Given the description of an element on the screen output the (x, y) to click on. 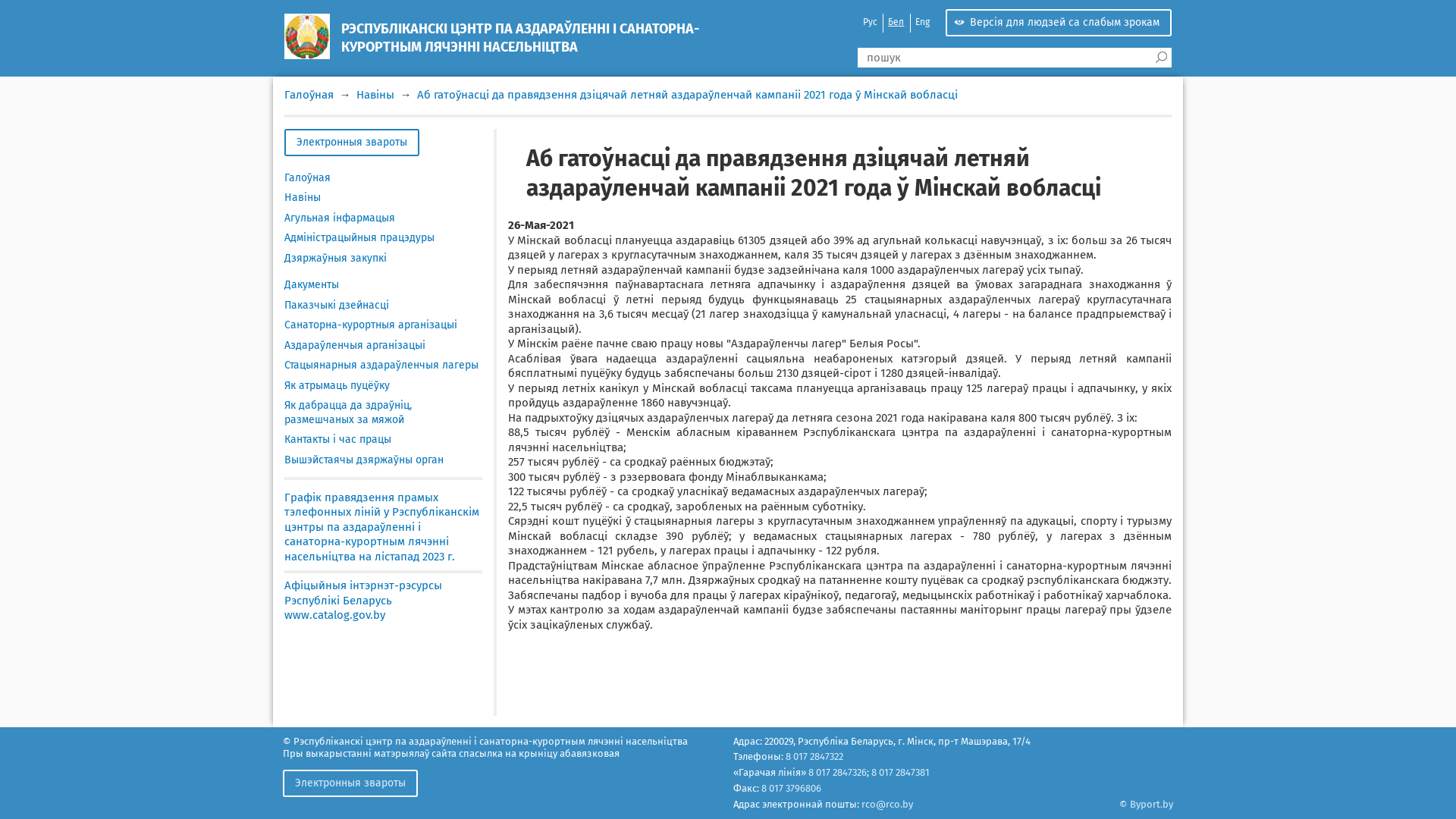
8 017 3796806 Element type: text (791, 787)
rco@rco.by Element type: text (887, 803)
8 017 2847322 Element type: text (814, 756)
8 017 2847326 Element type: text (837, 772)
8 017 2847381 Element type: text (899, 772)
Eng Element type: text (922, 22)
